Given the description of an element on the screen output the (x, y) to click on. 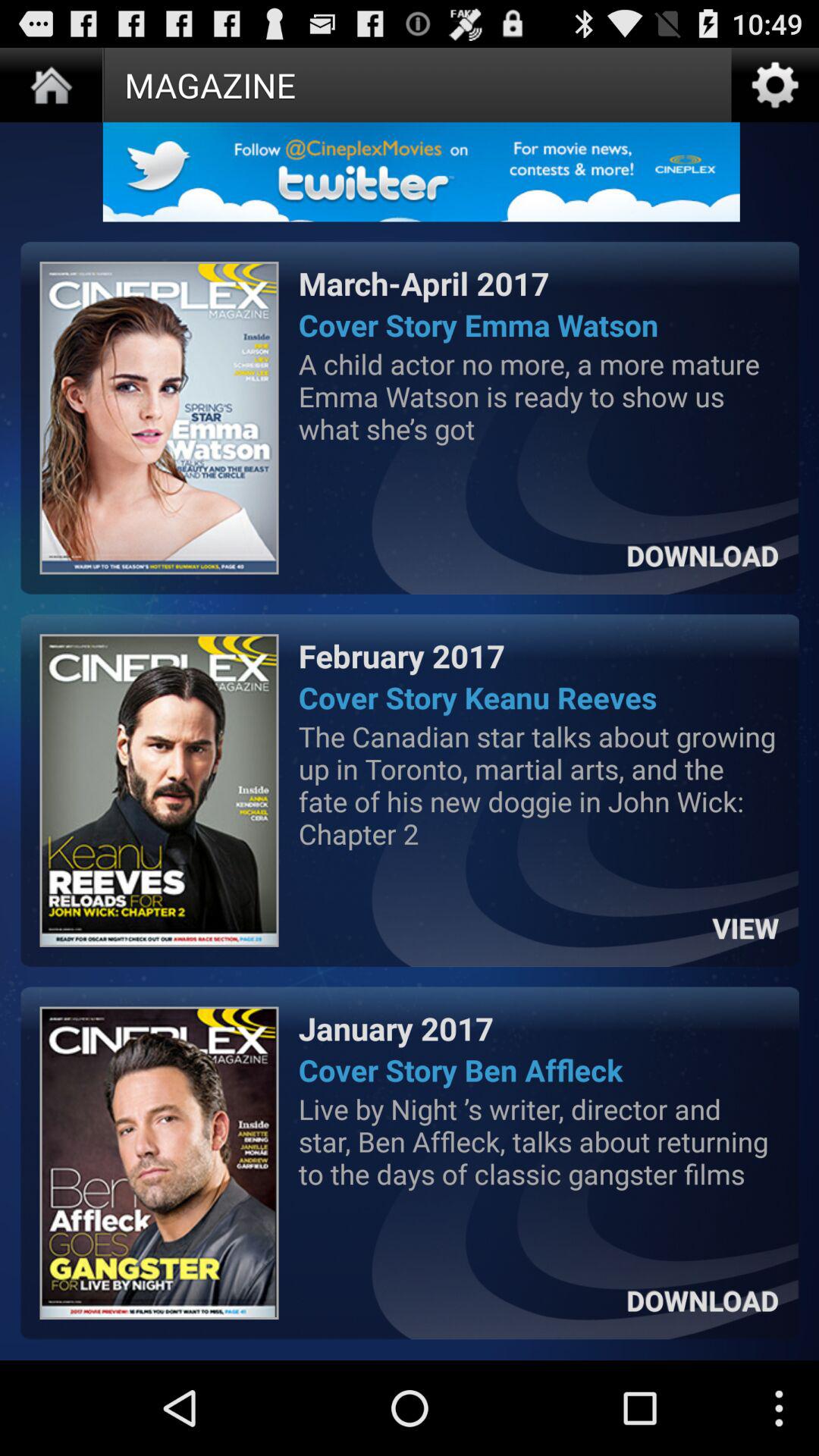
select the image on the bottom left side of the web page (159, 1163)
